Given the description of an element on the screen output the (x, y) to click on. 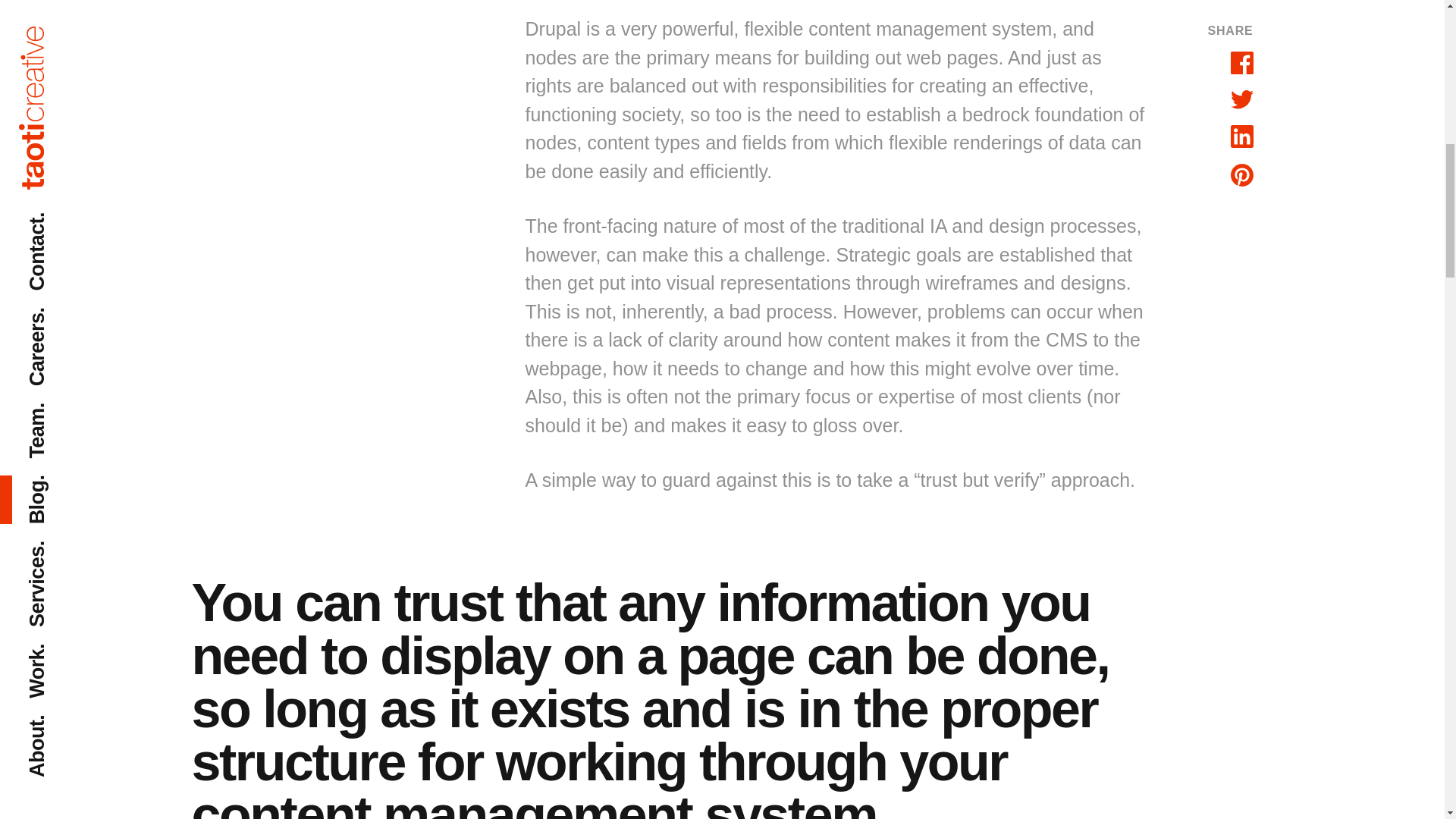
Twitter icon (1241, 99)
LinkedIn icon (1241, 136)
LinkedIn icon (1241, 136)
Pinterest icon (1241, 174)
Twitter icon (1241, 101)
Facebook icon (1241, 62)
Pinterest icon (1241, 174)
Facebook icon (1241, 62)
